Given the description of an element on the screen output the (x, y) to click on. 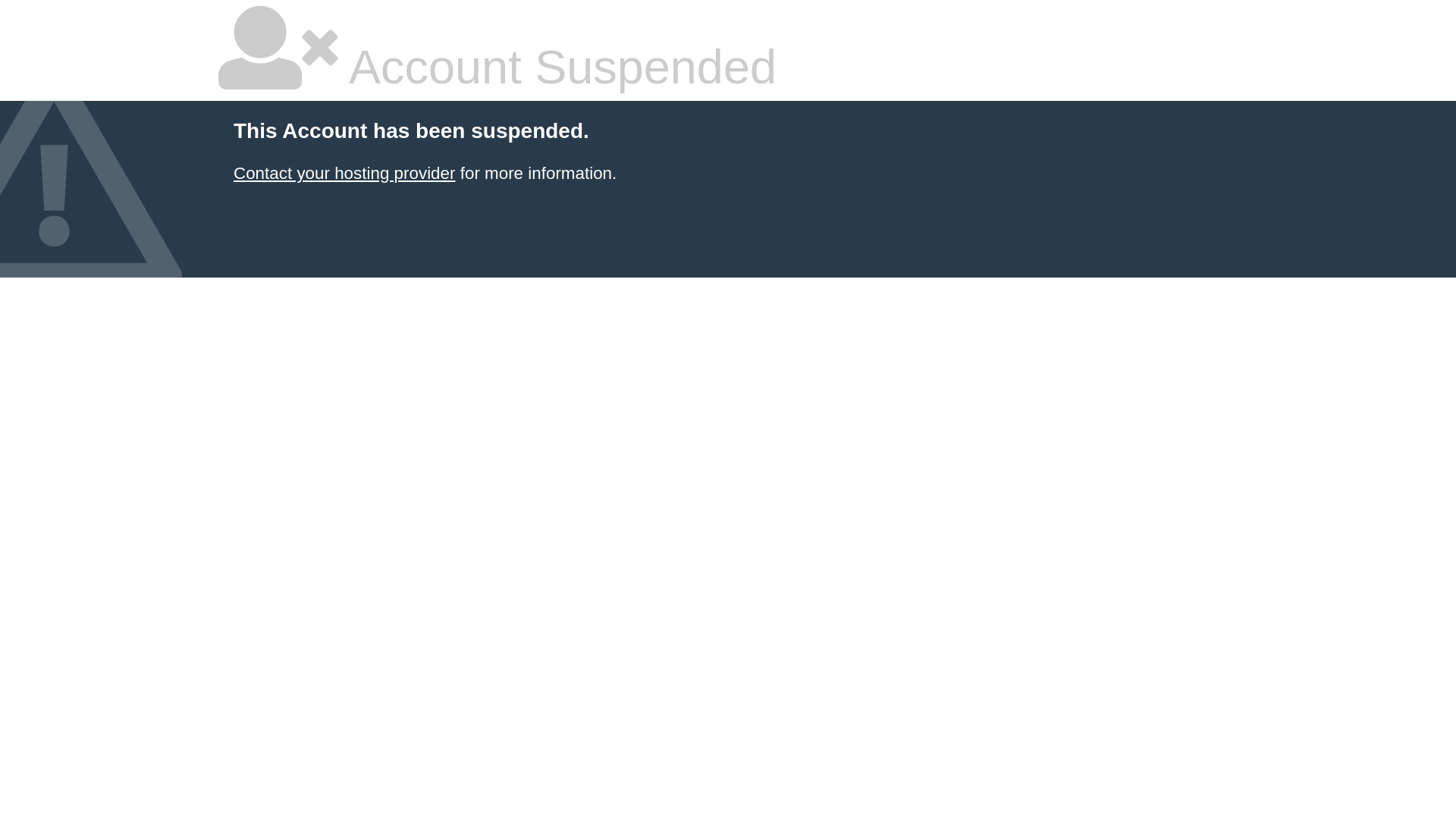
Contact your hosting provider Element type: text (344, 172)
